Given the description of an element on the screen output the (x, y) to click on. 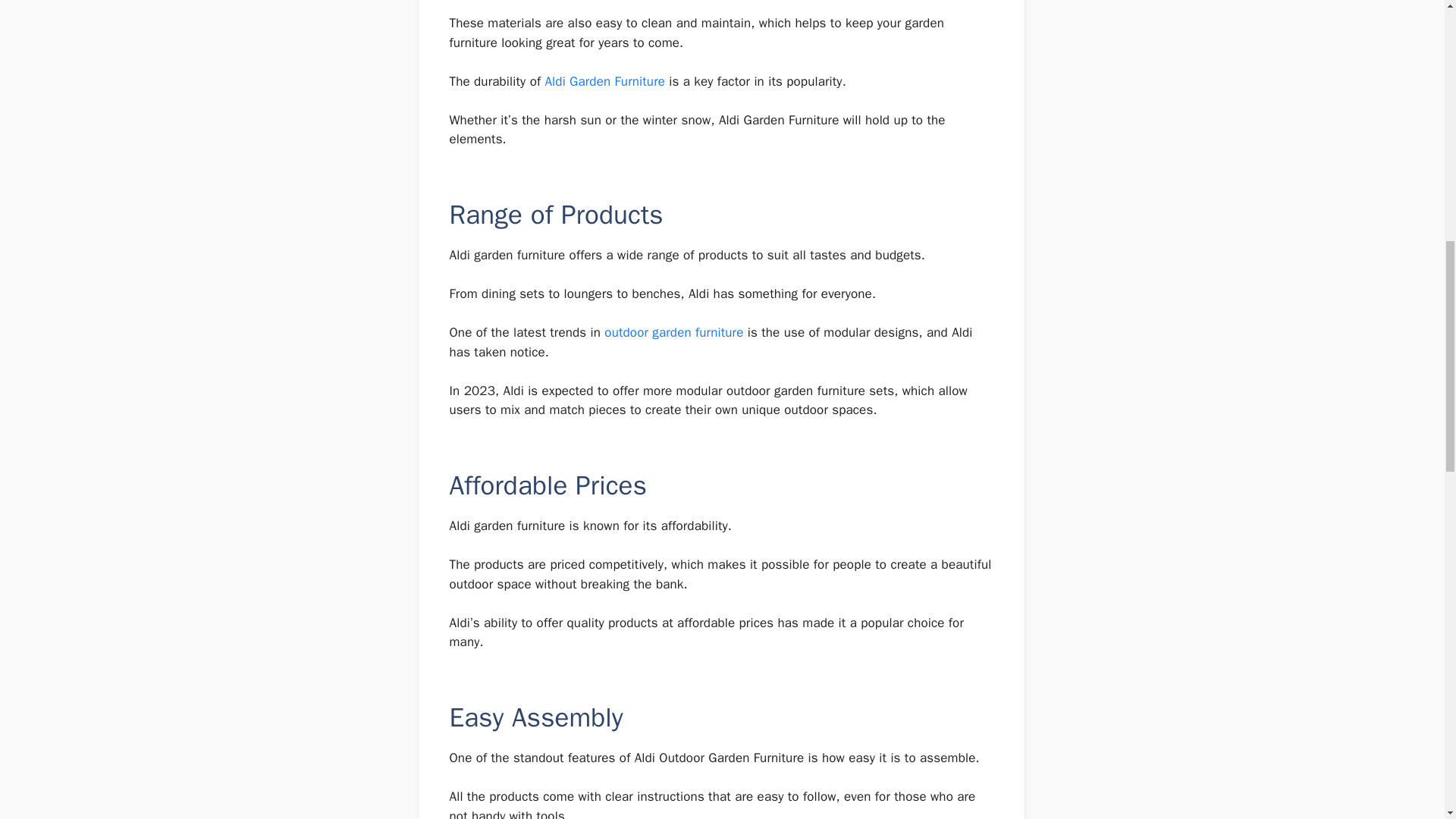
Scroll back to top (1406, 720)
outdoor garden furniture (673, 332)
Aldi Garden Furniture (604, 81)
